Given the description of an element on the screen output the (x, y) to click on. 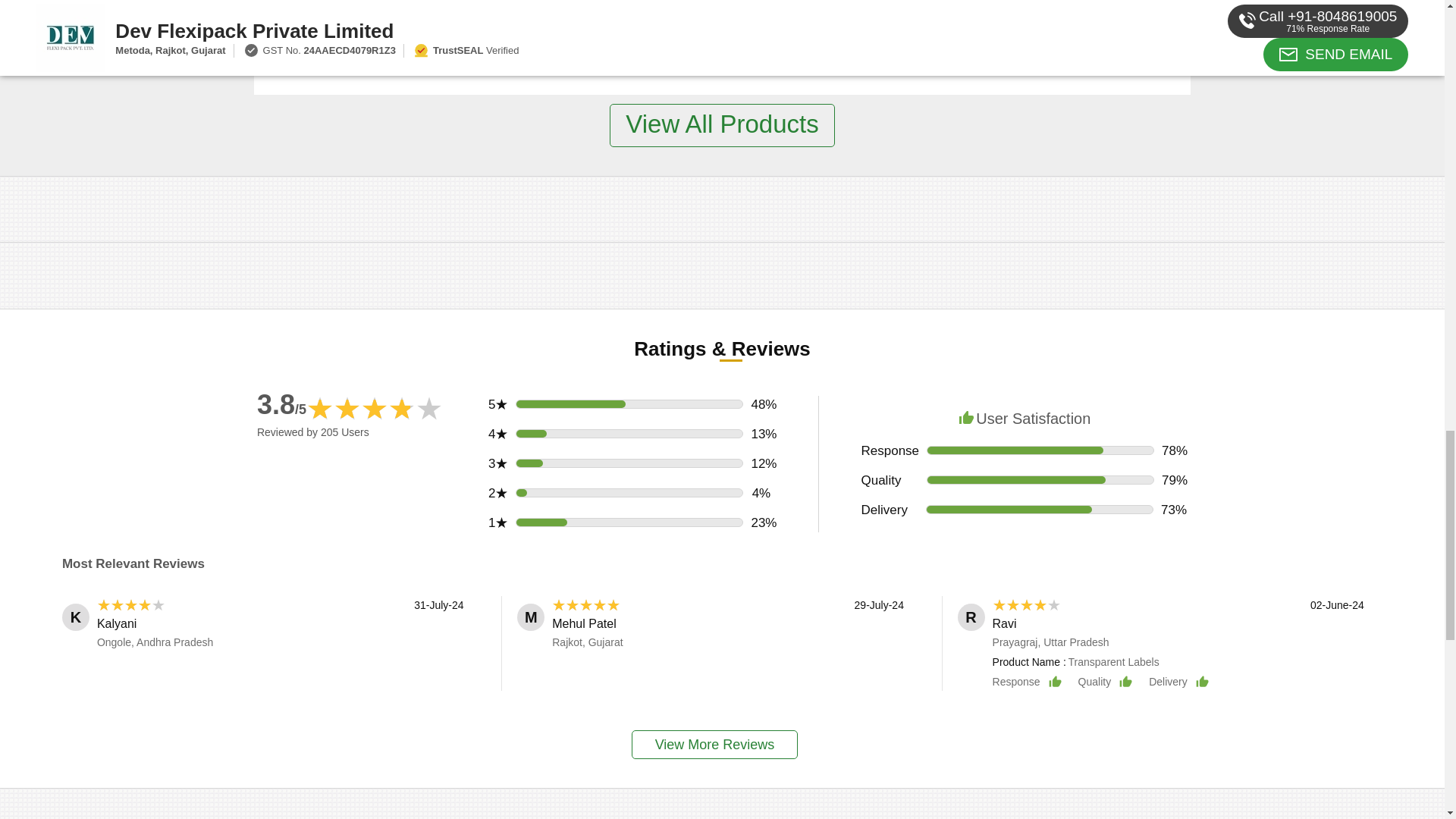
View All Products (722, 125)
View More Reviews (714, 744)
3.8 out of 5 Votes (281, 404)
